Given the description of an element on the screen output the (x, y) to click on. 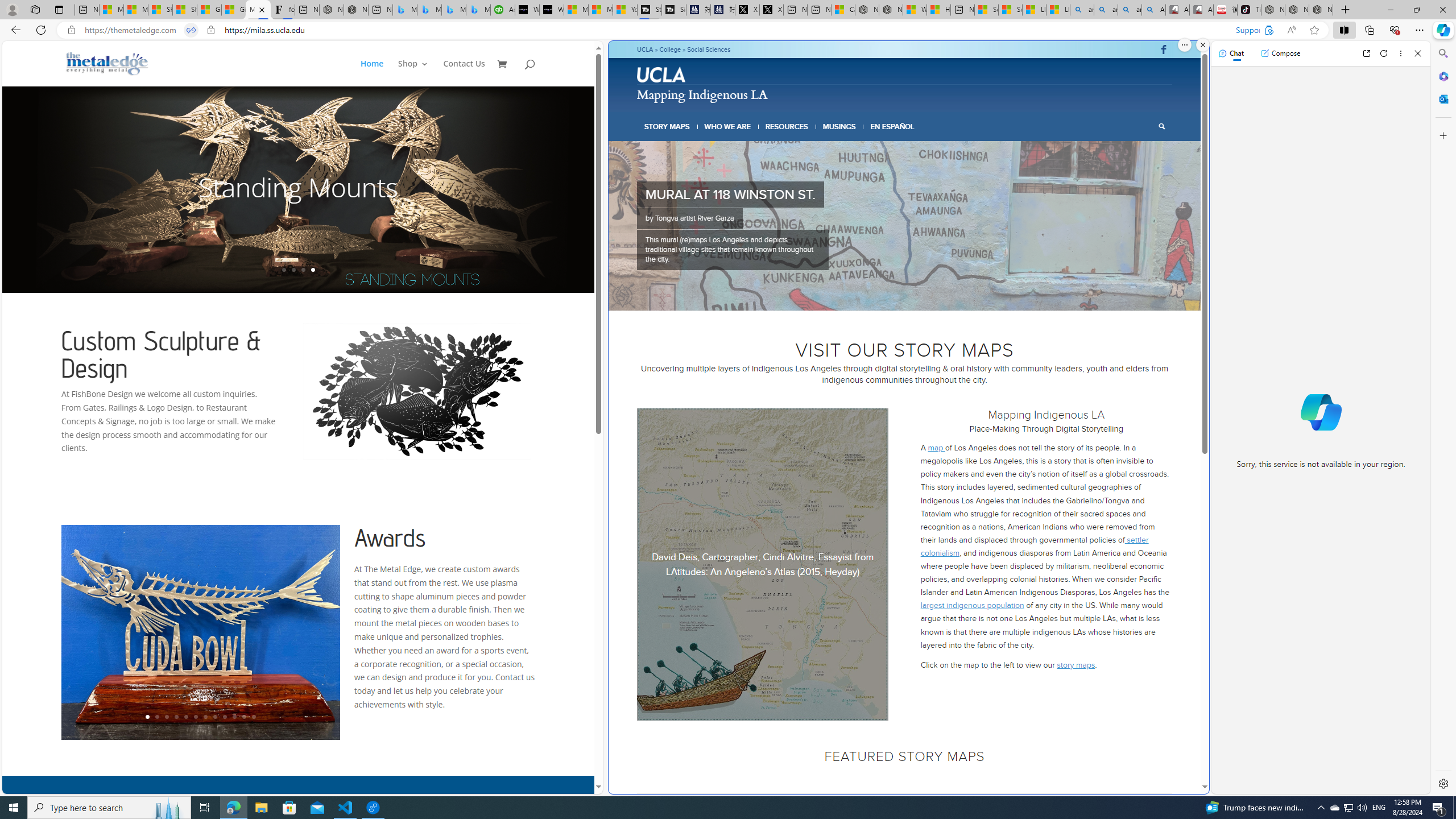
Nordace Siena Pro 15 Backpack (1296, 9)
Nordace - #1 Japanese Best-Seller - Siena Smart Backpack (355, 9)
Social Sciences (708, 49)
RESOURCES (786, 126)
All Cubot phones (1201, 9)
Alvitre map latitudes1 (763, 564)
Shop 3 (413, 72)
Accounting Software for Accountants, CPAs and Bookkeepers (502, 9)
Contact Us (463, 72)
Settings (1442, 783)
